Given the description of an element on the screen output the (x, y) to click on. 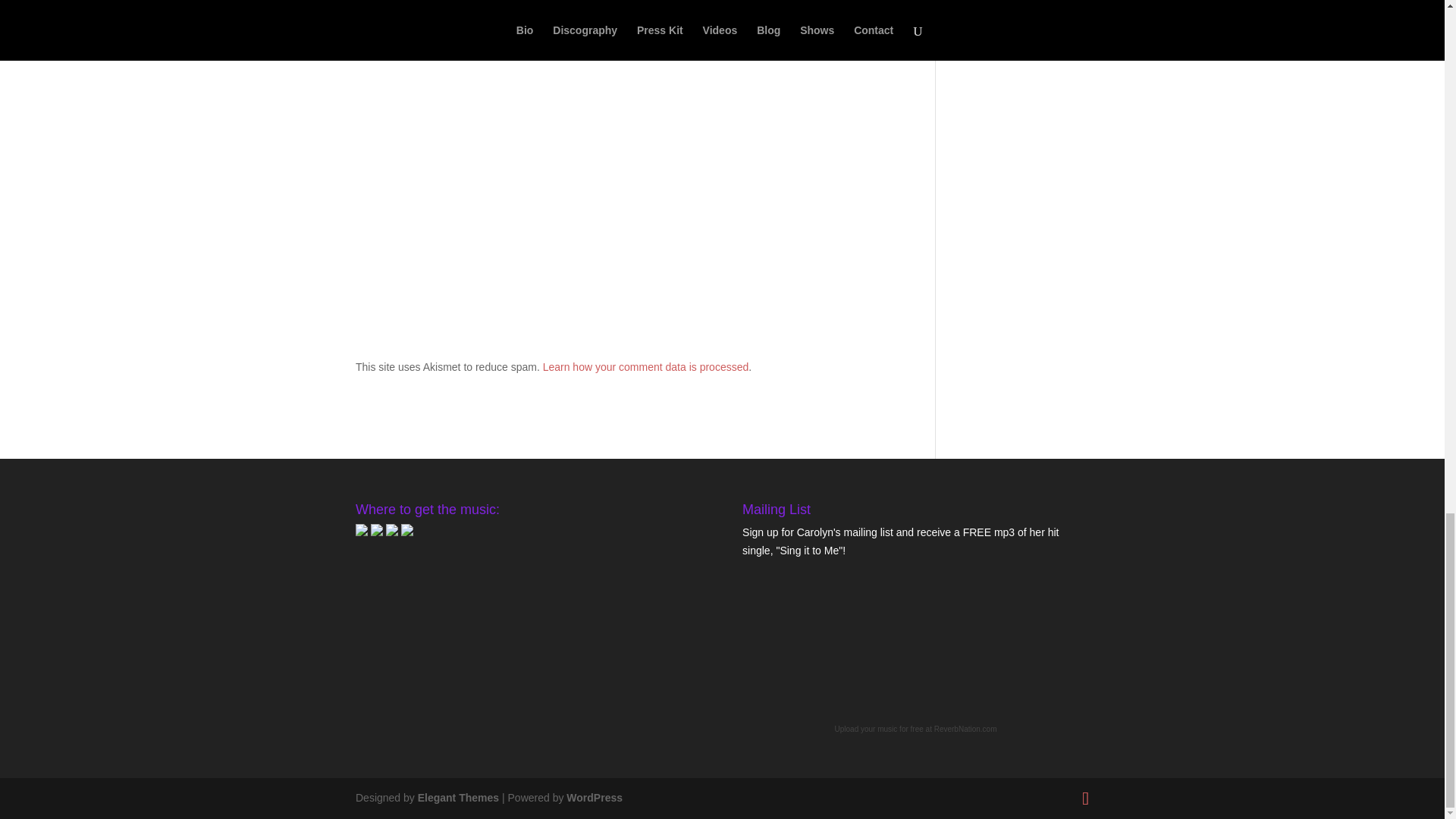
Learn how your comment data is processed (646, 367)
WordPress (594, 797)
Elegant Themes (458, 797)
Upload your music for free at ReverbNation.com (915, 728)
Premium WordPress Themes (458, 797)
